Given the description of an element on the screen output the (x, y) to click on. 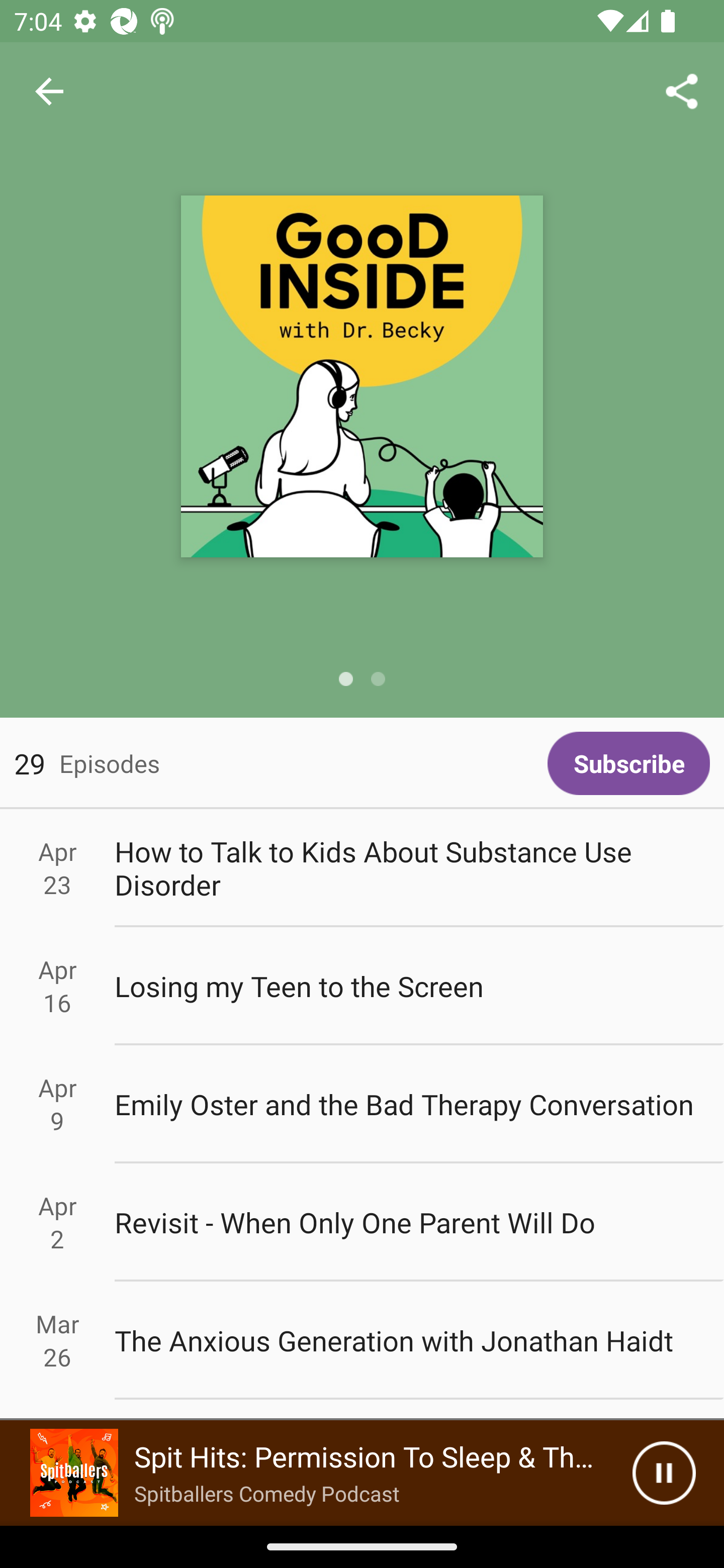
Navigate up (49, 91)
Share... (681, 90)
Subscribe (628, 763)
Apr 16 Losing my Teen to the Screen (362, 985)
Apr 9 Emily Oster and the Bad Therapy Conversation (362, 1104)
Apr 2 Revisit - When Only One Parent Will Do (362, 1222)
Mar 26 The Anxious Generation with Jonathan Haidt (362, 1340)
Pause (663, 1472)
